Given the description of an element on the screen output the (x, y) to click on. 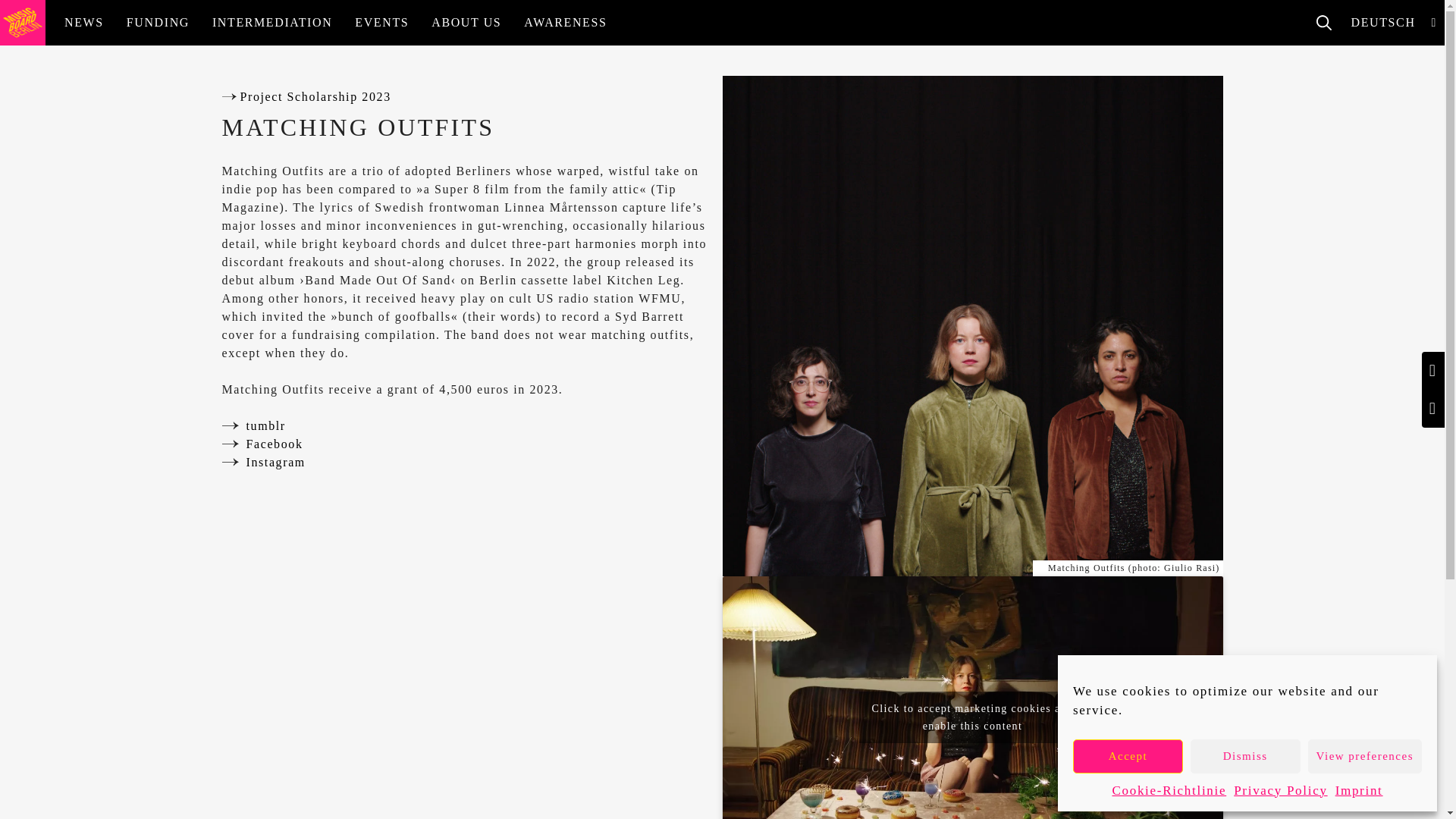
View preferences (1364, 755)
Privacy Policy (1279, 790)
FUNDING (157, 22)
Imprint (1359, 790)
INTERMEDIATION (271, 22)
EVENTS (381, 22)
Cookie-Richtlinie (1168, 790)
Accept (1127, 755)
NEWS (83, 22)
Dismiss (1245, 755)
